Given the description of an element on the screen output the (x, y) to click on. 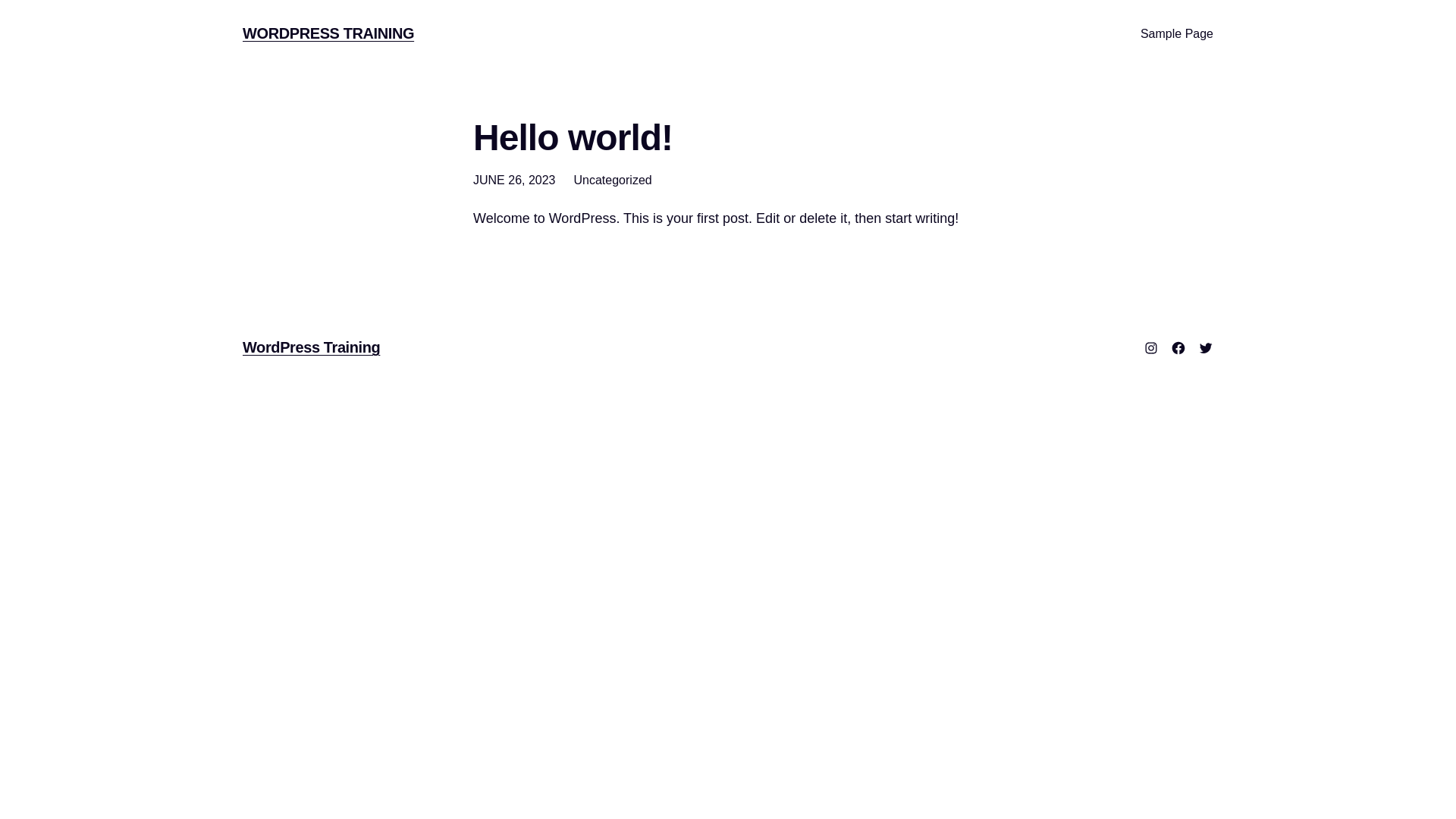
Sample Page Element type: text (1176, 33)
Instagram Element type: text (1150, 347)
WordPress Training Element type: text (310, 346)
WORDPRESS TRAINING Element type: text (328, 33)
Twitter Element type: text (1205, 347)
Facebook Element type: text (1178, 347)
Hello world! Element type: text (572, 137)
Uncategorized Element type: text (613, 179)
